Given the description of an element on the screen output the (x, y) to click on. 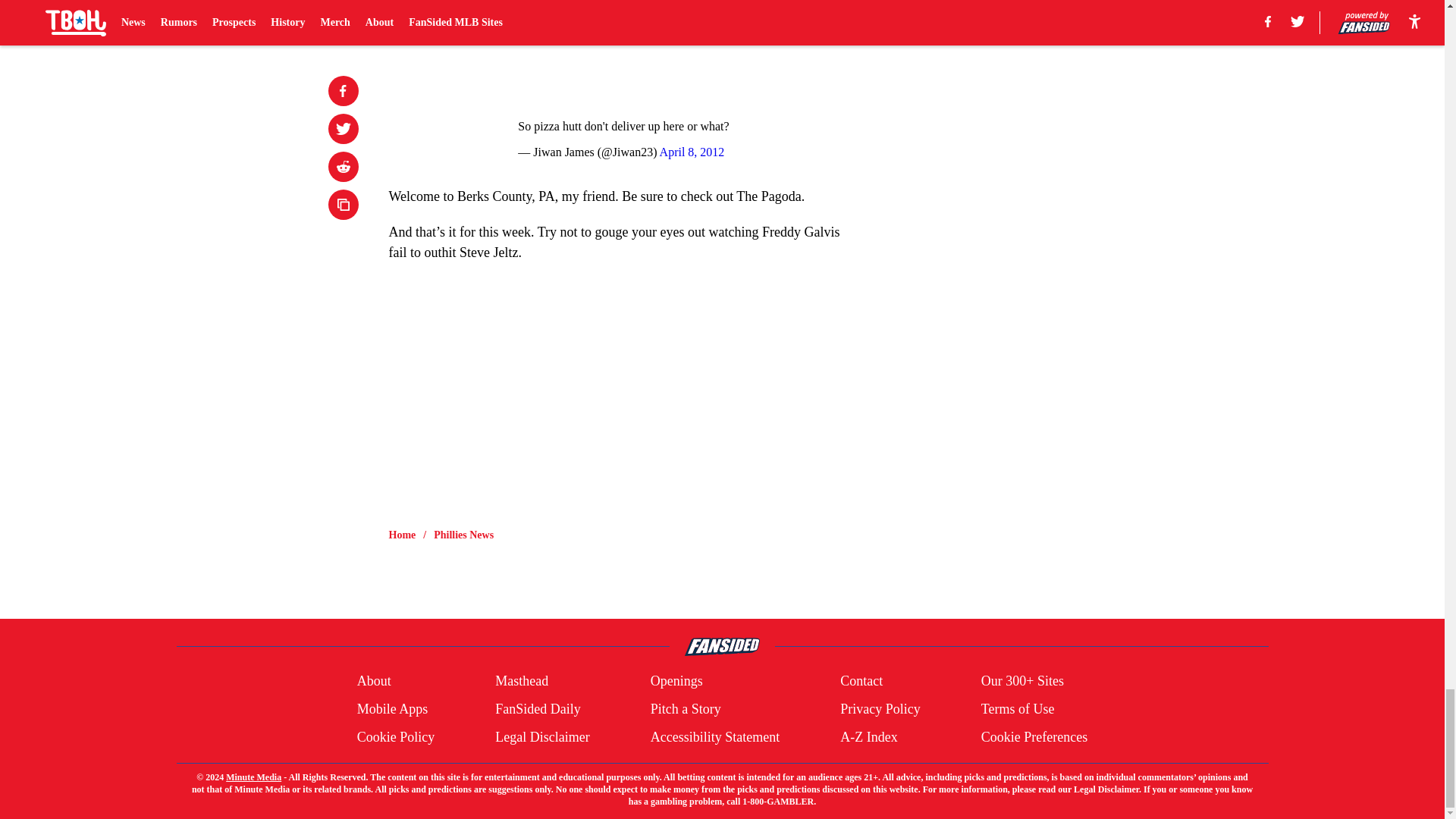
April 8, 2012 (692, 151)
Openings (676, 680)
Contact (861, 680)
Legal Disclaimer (542, 737)
Cookie Policy (395, 737)
Phillies News (463, 534)
Privacy Policy (880, 709)
Masthead (521, 680)
Terms of Use (1017, 709)
Pitch a Story (685, 709)
